Given the description of an element on the screen output the (x, y) to click on. 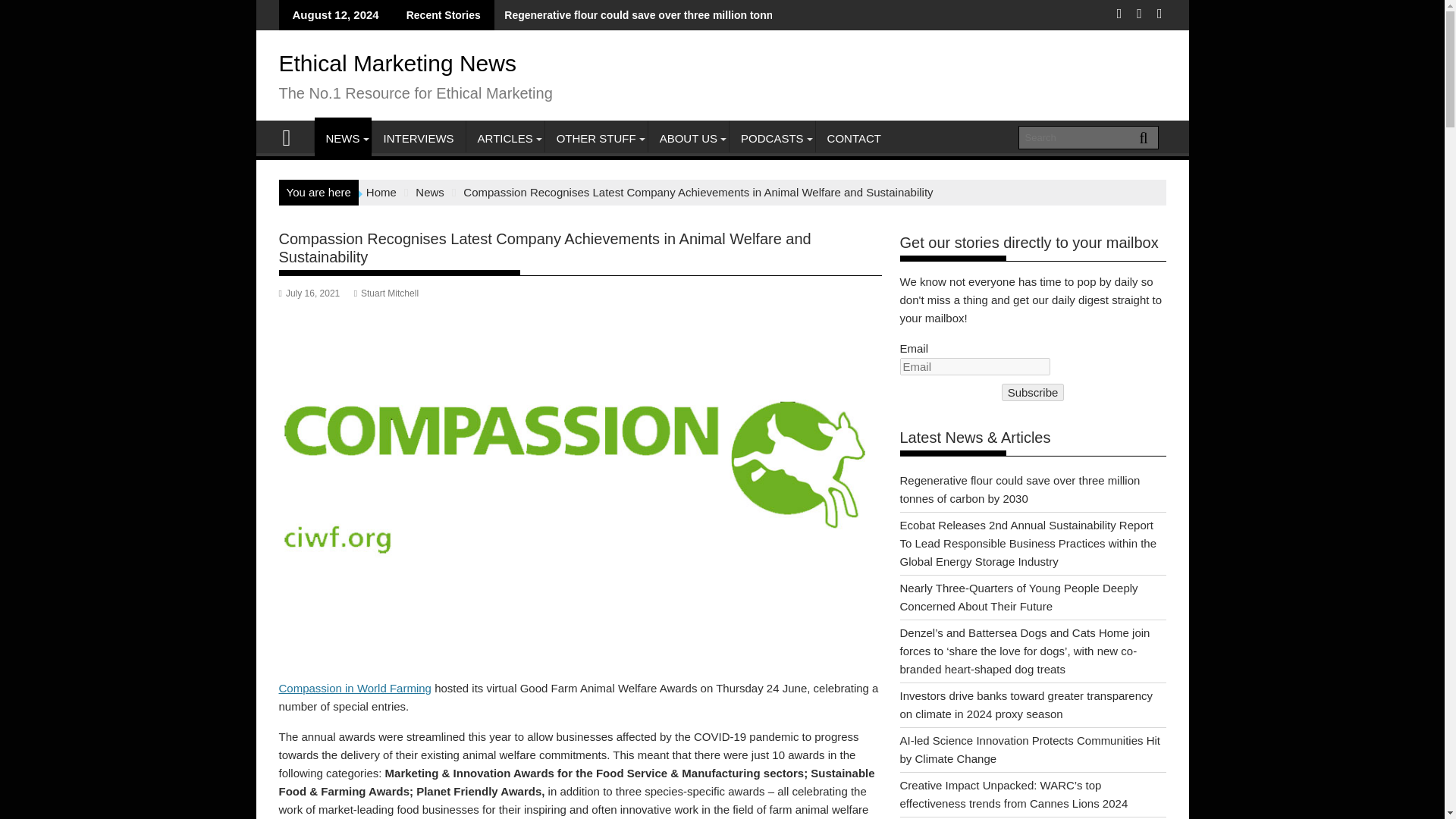
OTHER STUFF (595, 138)
ARTICLES (504, 138)
Subscribe (1032, 392)
PODCASTS (772, 138)
INTERVIEWS (417, 138)
ABOUT US (688, 138)
NEWS (342, 138)
Ethical Marketing News (293, 136)
